Given the description of an element on the screen output the (x, y) to click on. 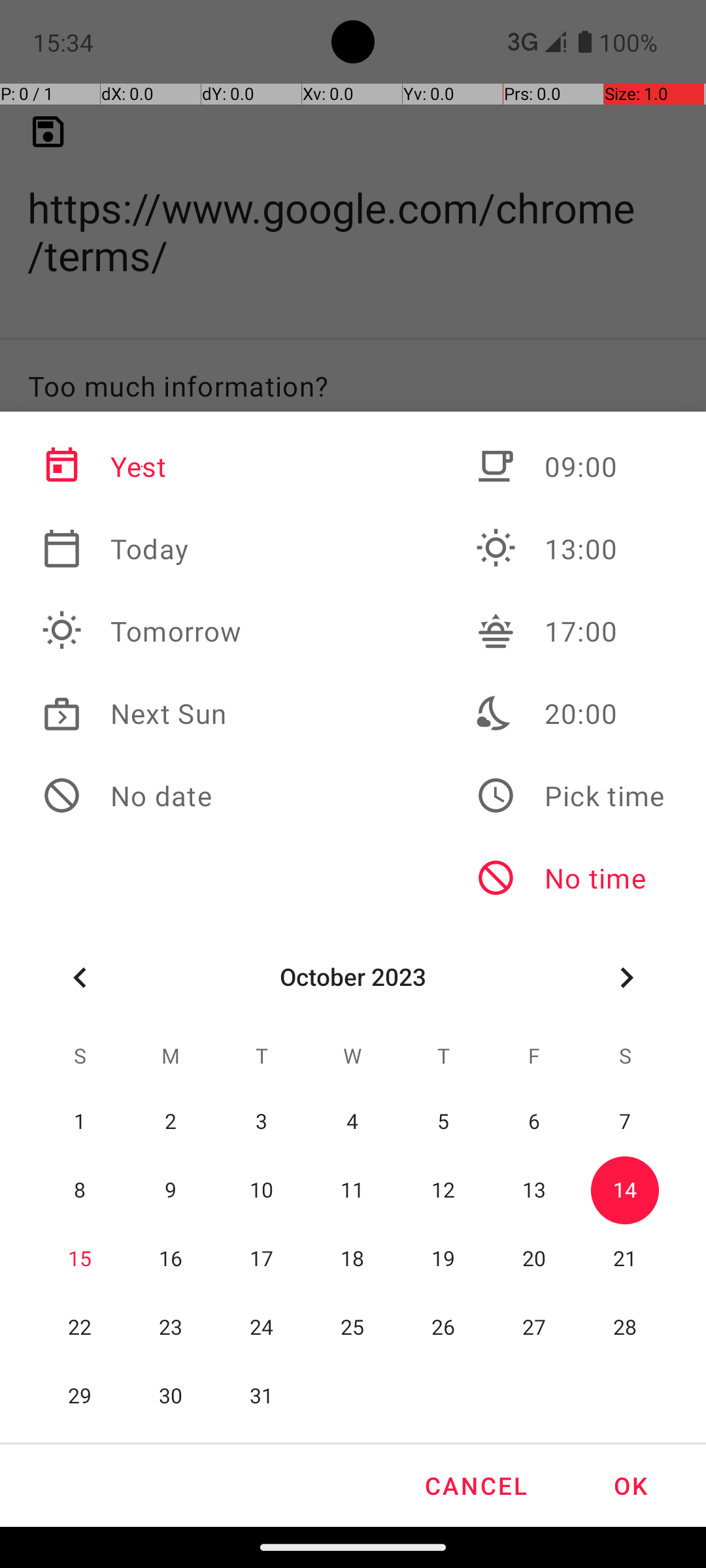
CANCEL Element type: android.widget.Button (474, 1485)
OK Element type: android.widget.Button (630, 1485)
Previous month Element type: android.widget.ImageButton (79, 977)
Next month Element type: android.widget.ImageButton (626, 977)
Yest Element type: android.widget.CompoundButton (141, 466)
Today Element type: android.widget.CompoundButton (141, 548)
Tomorrow Element type: android.widget.CompoundButton (141, 630)
Next Sun Element type: android.widget.CompoundButton (141, 713)
No date Element type: android.widget.CompoundButton (141, 795)
09:00 Element type: android.widget.CompoundButton (569, 466)
13:00 Element type: android.widget.CompoundButton (569, 548)
17:00 Element type: android.widget.CompoundButton (569, 630)
20:00 Element type: android.widget.CompoundButton (569, 713)
Pick time Element type: android.widget.CompoundButton (569, 795)
No time Element type: android.widget.CompoundButton (569, 877)
1 Element type: android.view.View (79, 1121)
2 Element type: android.view.View (170, 1121)
3 Element type: android.view.View (261, 1121)
4 Element type: android.view.View (352, 1121)
5 Element type: android.view.View (443, 1121)
6 Element type: android.view.View (533, 1121)
7 Element type: android.view.View (624, 1121)
8 Element type: android.view.View (79, 1190)
9 Element type: android.view.View (170, 1190)
10 Element type: android.view.View (261, 1190)
11 Element type: android.view.View (352, 1190)
12 Element type: android.view.View (443, 1190)
13 Element type: android.view.View (533, 1190)
14 Element type: android.view.View (624, 1190)
15 Element type: android.view.View (79, 1259)
16 Element type: android.view.View (170, 1259)
17 Element type: android.view.View (261, 1259)
18 Element type: android.view.View (352, 1259)
19 Element type: android.view.View (443, 1259)
20 Element type: android.view.View (533, 1259)
21 Element type: android.view.View (624, 1259)
22 Element type: android.view.View (79, 1327)
23 Element type: android.view.View (170, 1327)
24 Element type: android.view.View (261, 1327)
25 Element type: android.view.View (352, 1327)
26 Element type: android.view.View (443, 1327)
27 Element type: android.view.View (533, 1327)
28 Element type: android.view.View (624, 1327)
29 Element type: android.view.View (79, 1396)
30 Element type: android.view.View (170, 1396)
31 Element type: android.view.View (261, 1396)
